Given the description of an element on the screen output the (x, y) to click on. 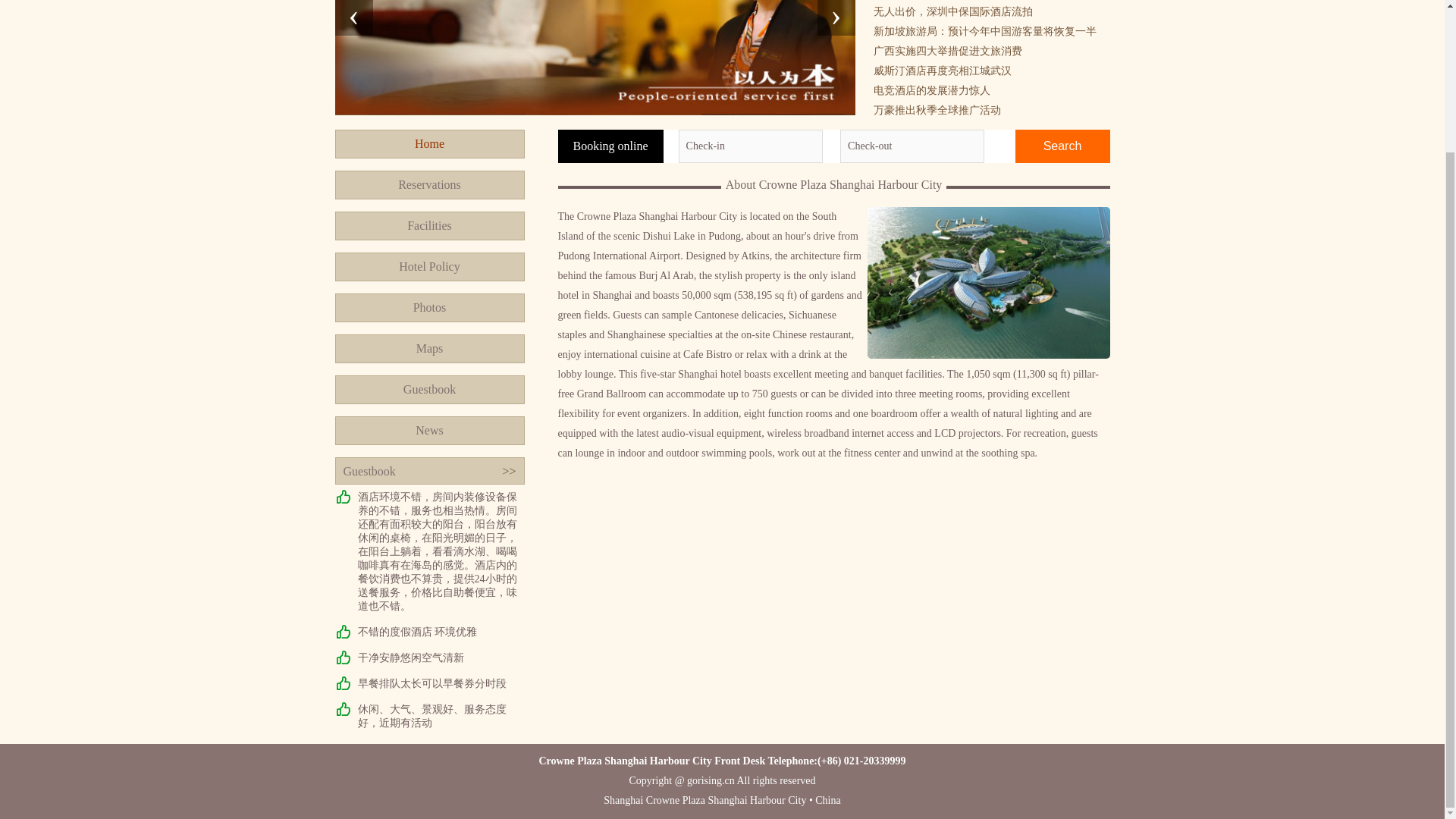
Home (429, 143)
Maps (429, 348)
Guestbook (429, 389)
Reservations (429, 184)
Facilities (429, 225)
News (429, 430)
Hotel Policy (429, 266)
Photos (429, 307)
Search (1061, 145)
